Given the description of an element on the screen output the (x, y) to click on. 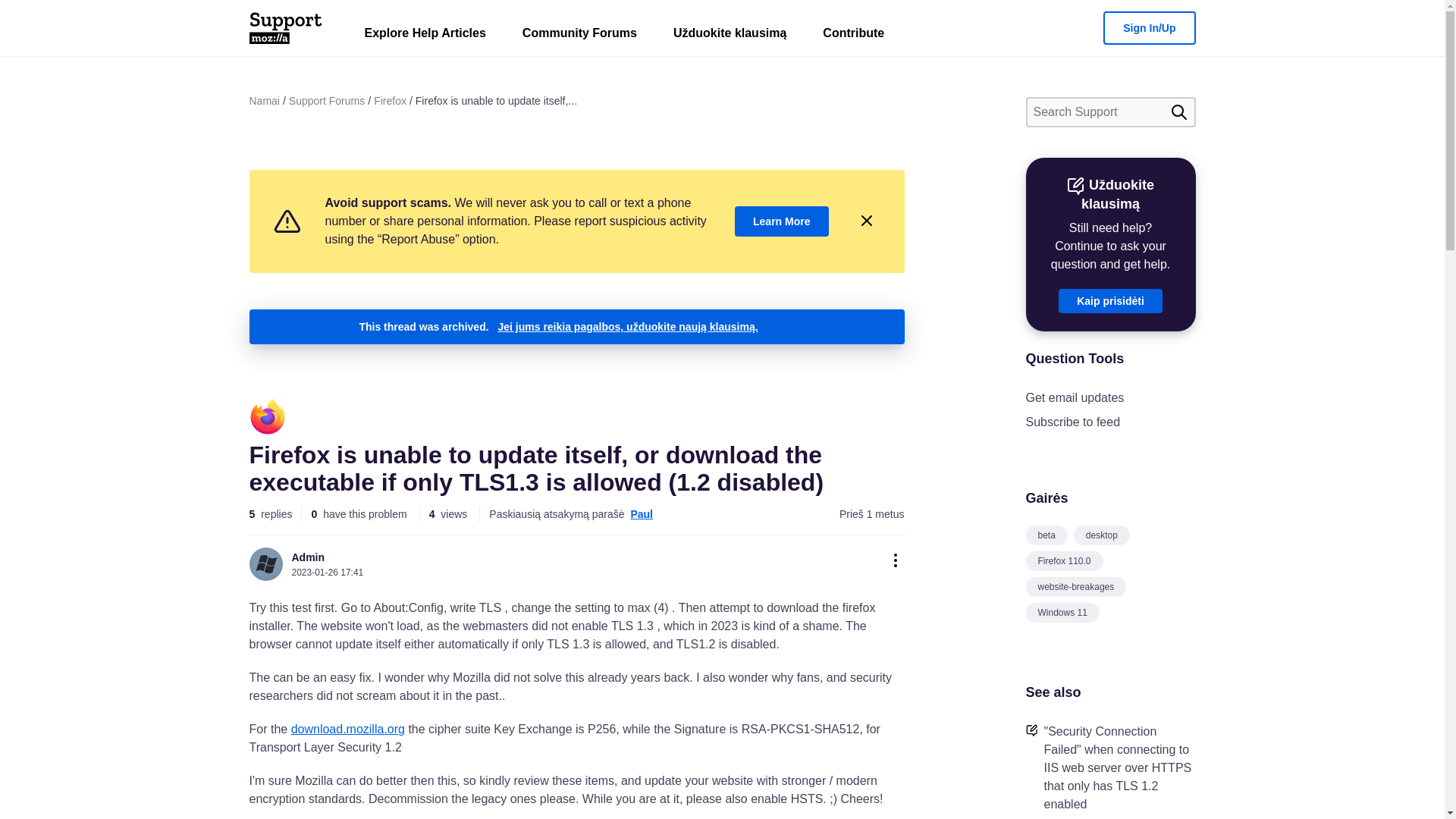
Community Forums (579, 37)
Explore Help Articles (424, 37)
